Given the description of an element on the screen output the (x, y) to click on. 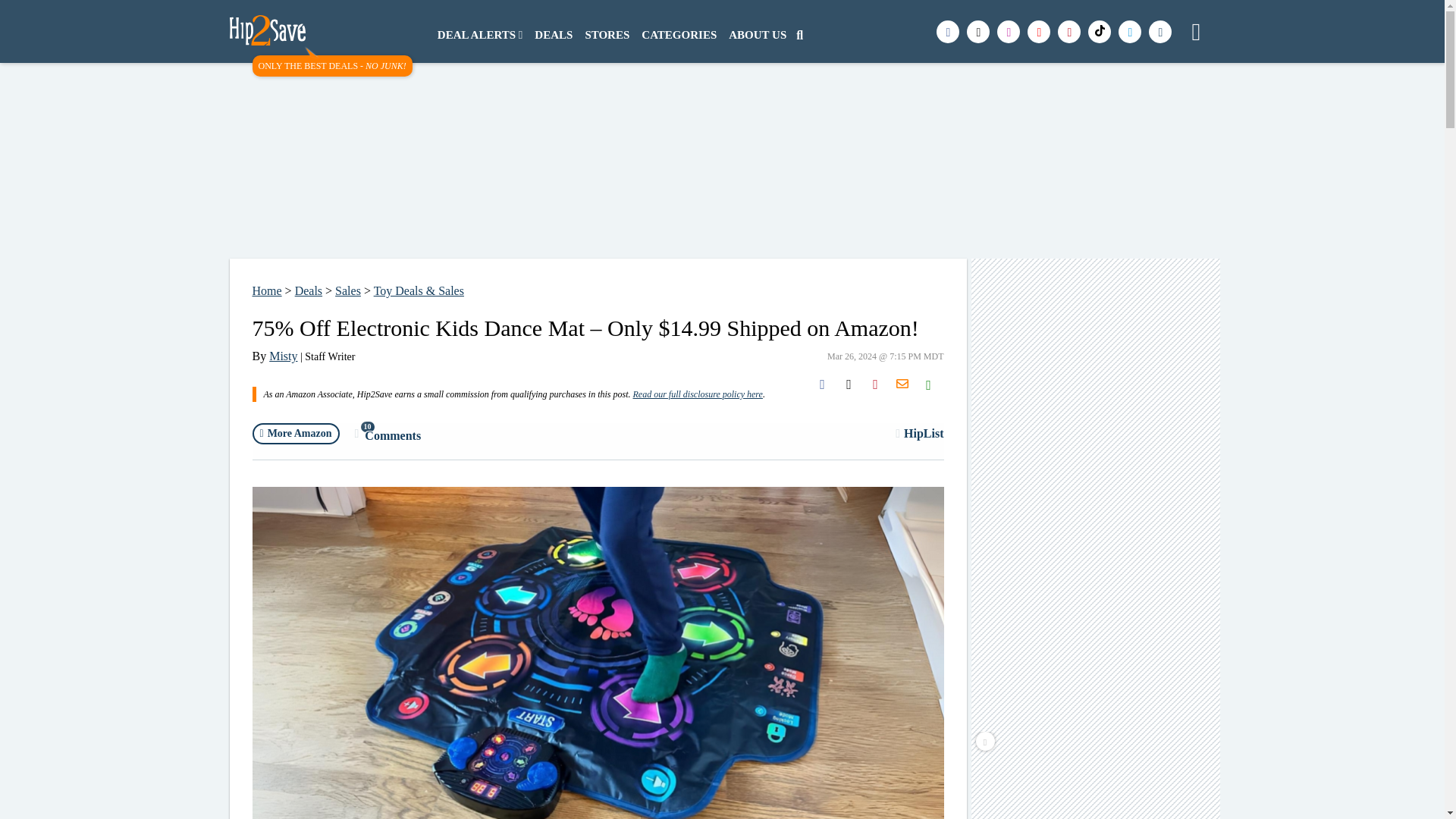
Read our full disclosure policy here (696, 394)
More Amazon (295, 433)
Click to share on H2S Email (902, 384)
Sales (347, 290)
HipList (919, 433)
Misty (388, 434)
DEALS (283, 355)
CATEGORIES (553, 35)
ABOUT US (678, 35)
STORES (757, 35)
Click to share on SMS (606, 35)
Deals (927, 384)
Home (308, 290)
